Given the description of an element on the screen output the (x, y) to click on. 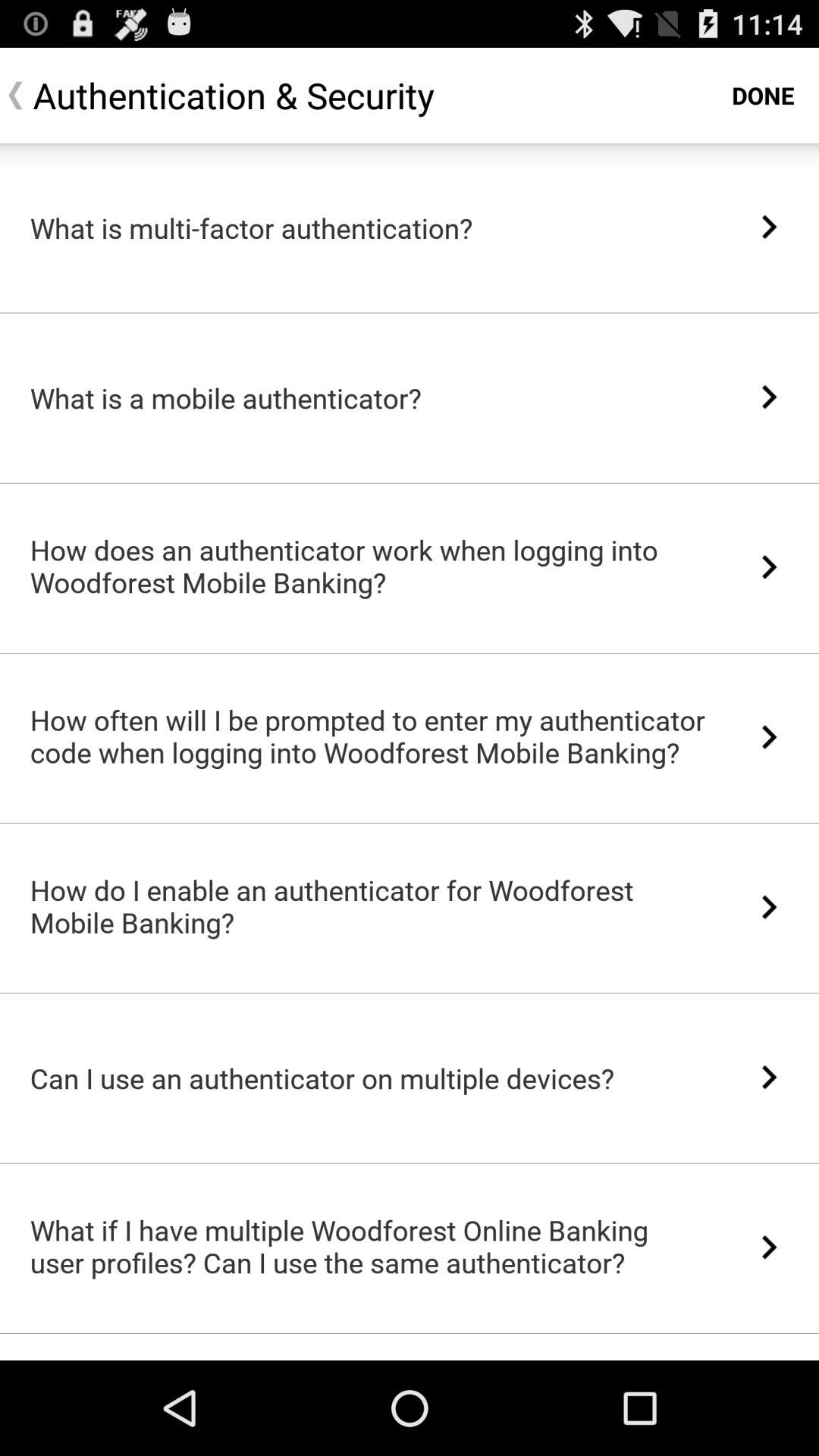
choose the item to the right of the what if i icon (768, 1247)
